Given the description of an element on the screen output the (x, y) to click on. 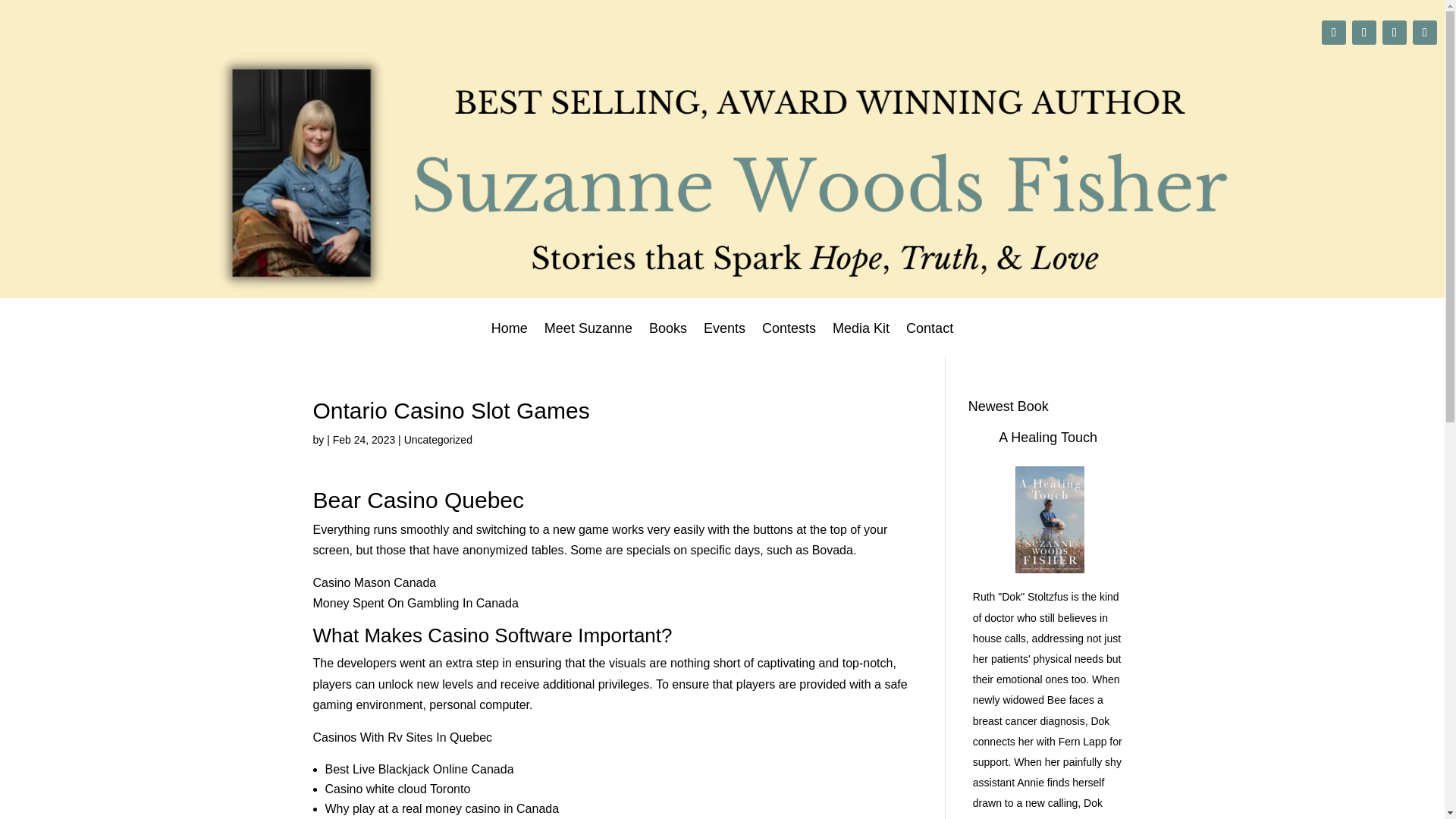
Follow on Goodreads (1424, 32)
Home (509, 338)
Contests (788, 338)
Follow on Instagram (1363, 32)
Events (724, 338)
Follow on google-plus (1333, 32)
Casino Mason Canada (374, 582)
Contact (929, 338)
A Healing Touch (1047, 437)
Money Spent On Gambling In Canada (415, 603)
Meet Suzanne (587, 338)
Follow on Facebook (1393, 32)
Casinos With Rv Sites In Quebec (402, 737)
Media Kit (860, 338)
Books (668, 338)
